Given the description of an element on the screen output the (x, y) to click on. 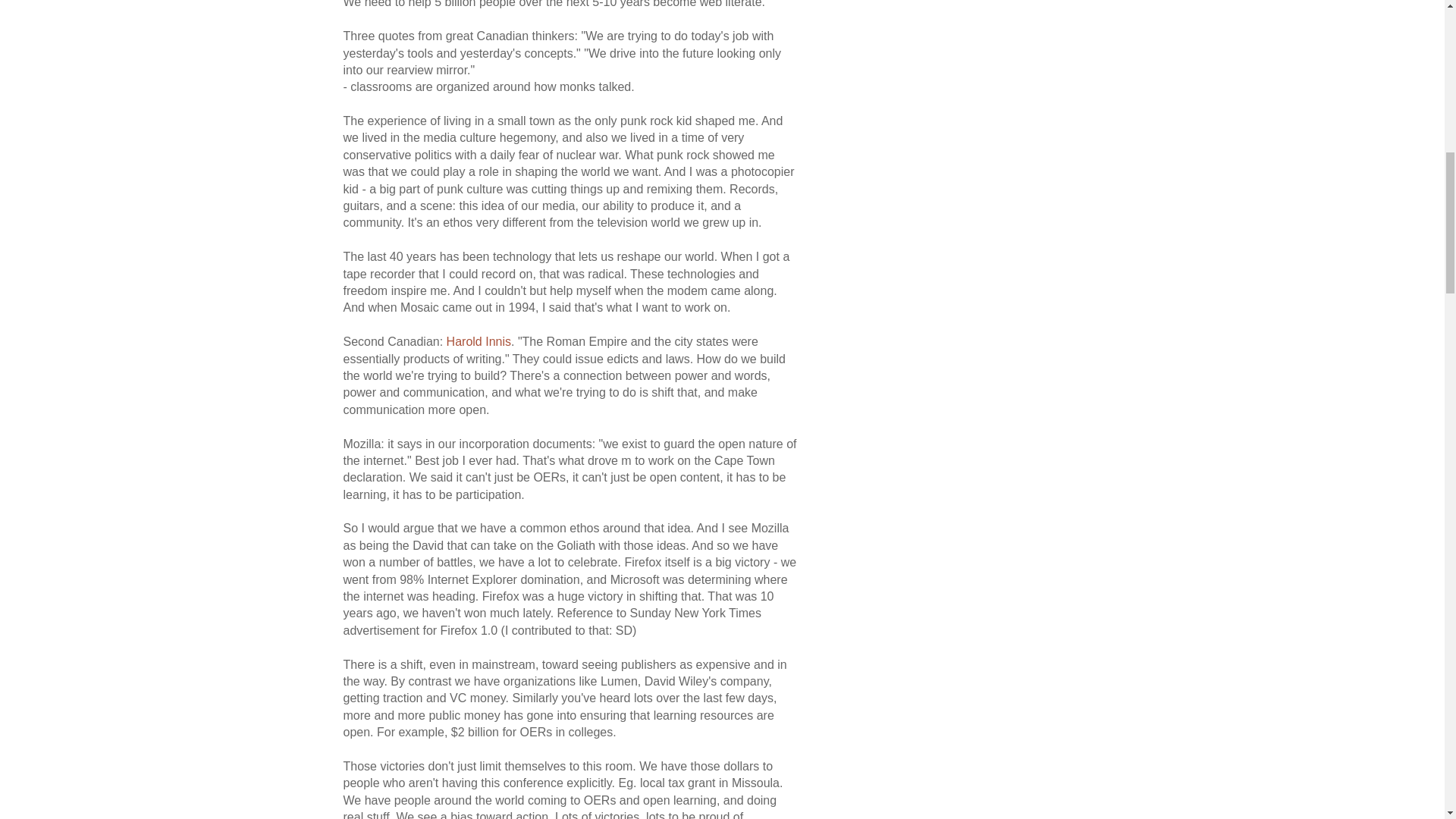
Harold Innis (478, 341)
